Given the description of an element on the screen output the (x, y) to click on. 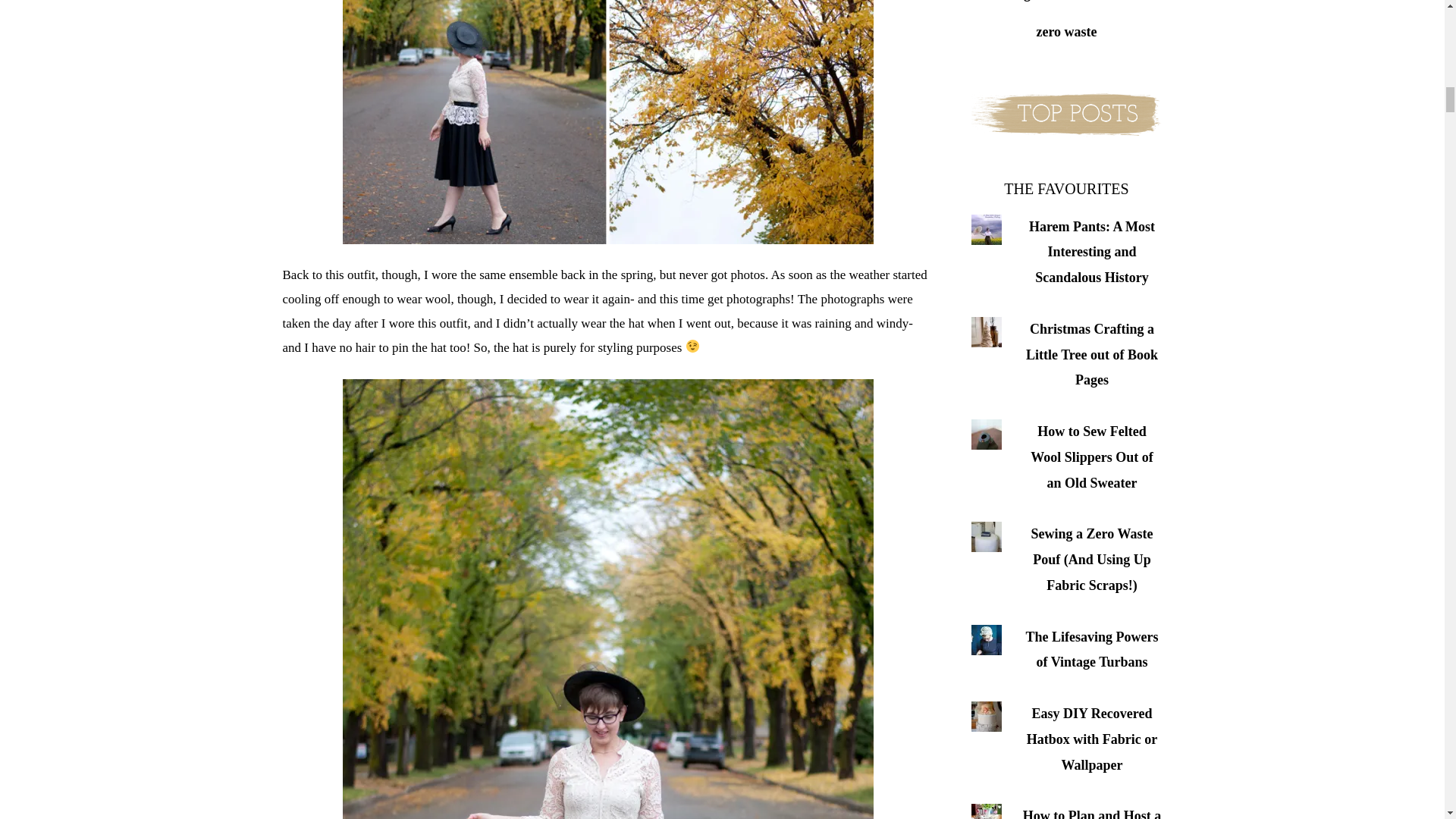
Harem Pants: A Most Interesting and Scandalous History (1091, 252)
